Given the description of an element on the screen output the (x, y) to click on. 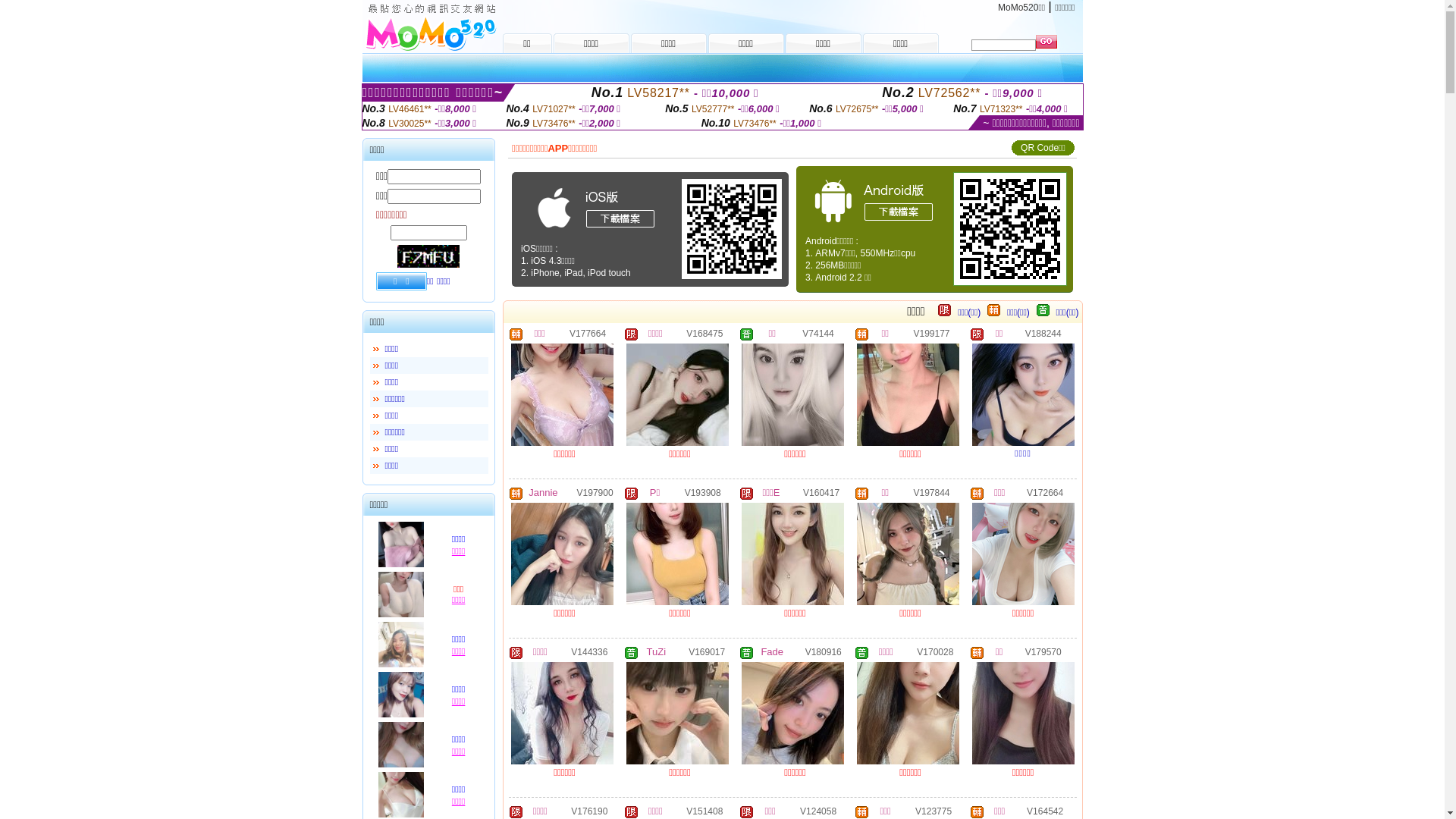
Fade Element type: text (771, 651)
V177664 Element type: text (587, 332)
V144336 Element type: text (589, 651)
Jannie Element type: text (542, 492)
V197900 Element type: text (595, 491)
V199177 Element type: text (931, 332)
V176190 Element type: text (589, 810)
V179570 Element type: text (1043, 651)
V193908 Element type: text (702, 491)
V188244 Element type: text (1043, 332)
TuZi Element type: text (656, 651)
V180916 Element type: text (823, 651)
V168475 Element type: text (704, 332)
V169017 Element type: text (706, 651)
V160417 Element type: text (821, 491)
V74144 Element type: text (817, 332)
V197844 Element type: text (931, 491)
V164542 Element type: text (1044, 810)
V170028 Element type: text (934, 651)
V151408 Element type: text (704, 810)
V124058 Element type: text (818, 810)
V123775 Element type: text (933, 810)
V172664 Element type: text (1044, 491)
